Given the description of an element on the screen output the (x, y) to click on. 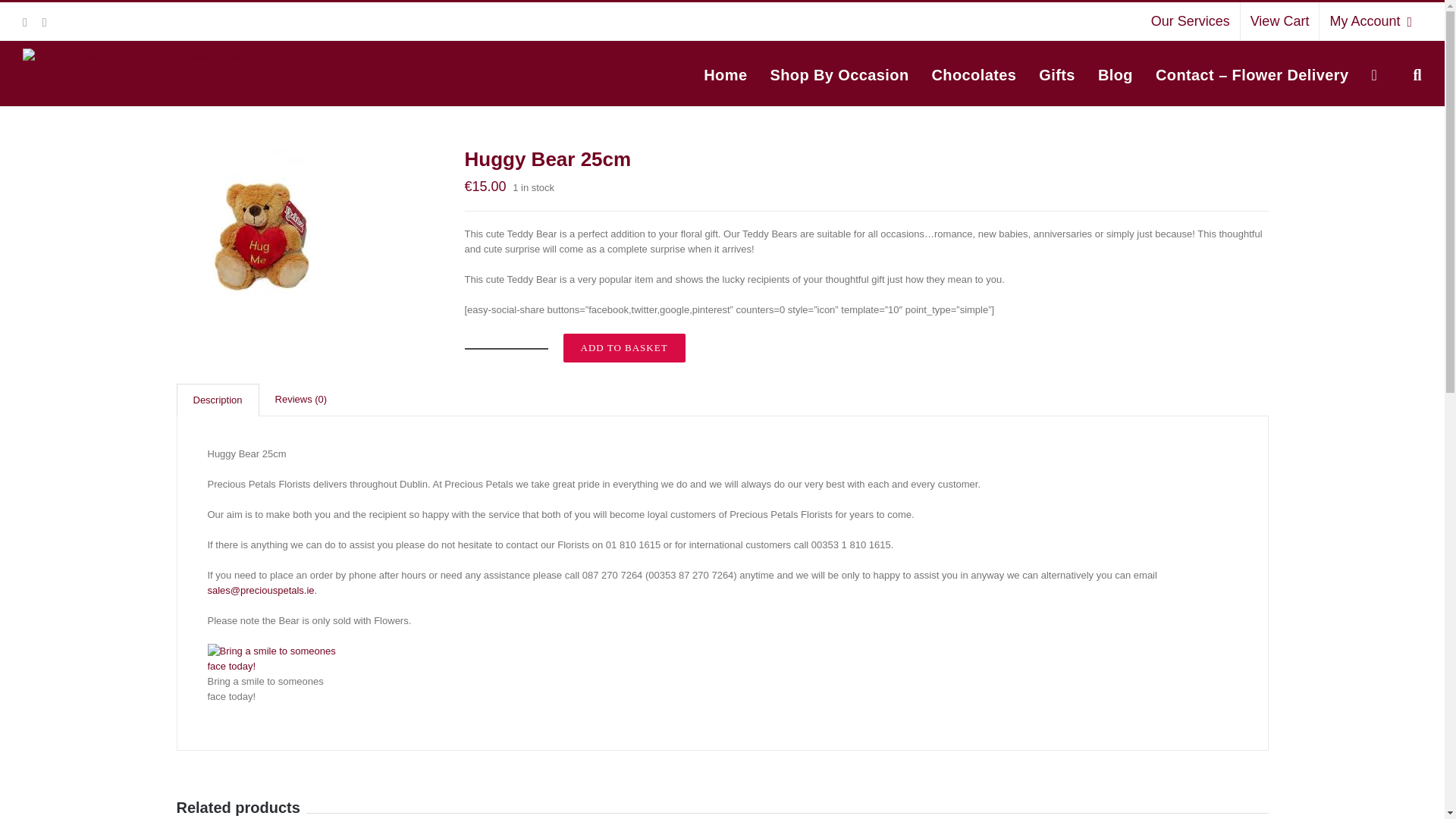
Shop By Occasion (839, 73)
huggy bear 25cm (261, 233)
Our Services (1190, 21)
Chocolates (973, 73)
View Cart (1279, 21)
My Account (1370, 21)
